Given the description of an element on the screen output the (x, y) to click on. 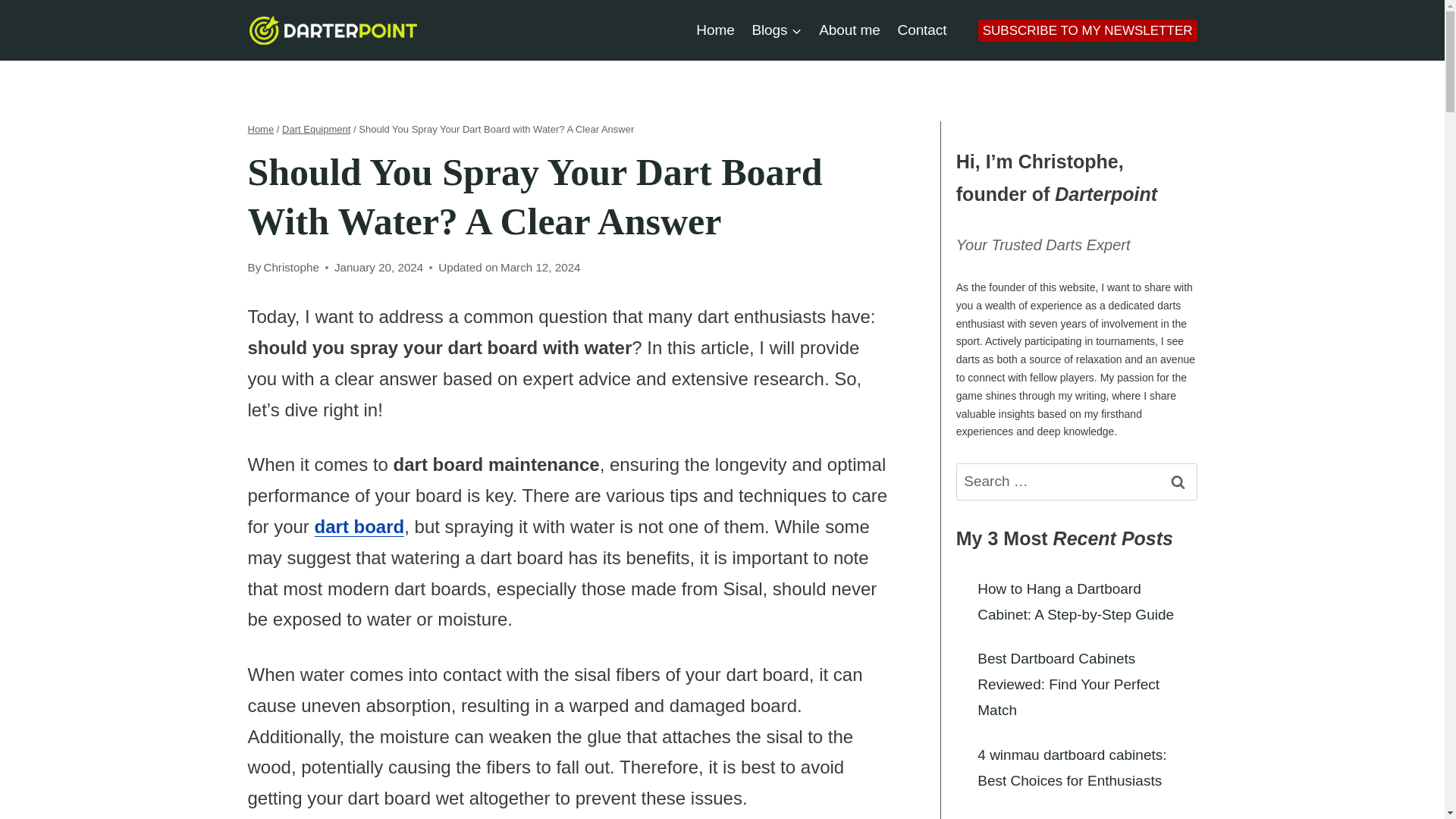
Contact (921, 29)
Dart Equipment (316, 129)
Blogs (776, 29)
SUBSCRIBE TO MY NEWSLETTER (1087, 30)
Search (1177, 481)
How to Hang a Dartboard Cabinet: A Step-by-Step Guide (1074, 601)
Best Dartboard Cabinets Reviewed: Find Your Perfect Match (1067, 684)
Home (714, 29)
Search (1177, 481)
Search (1177, 481)
